Given the description of an element on the screen output the (x, y) to click on. 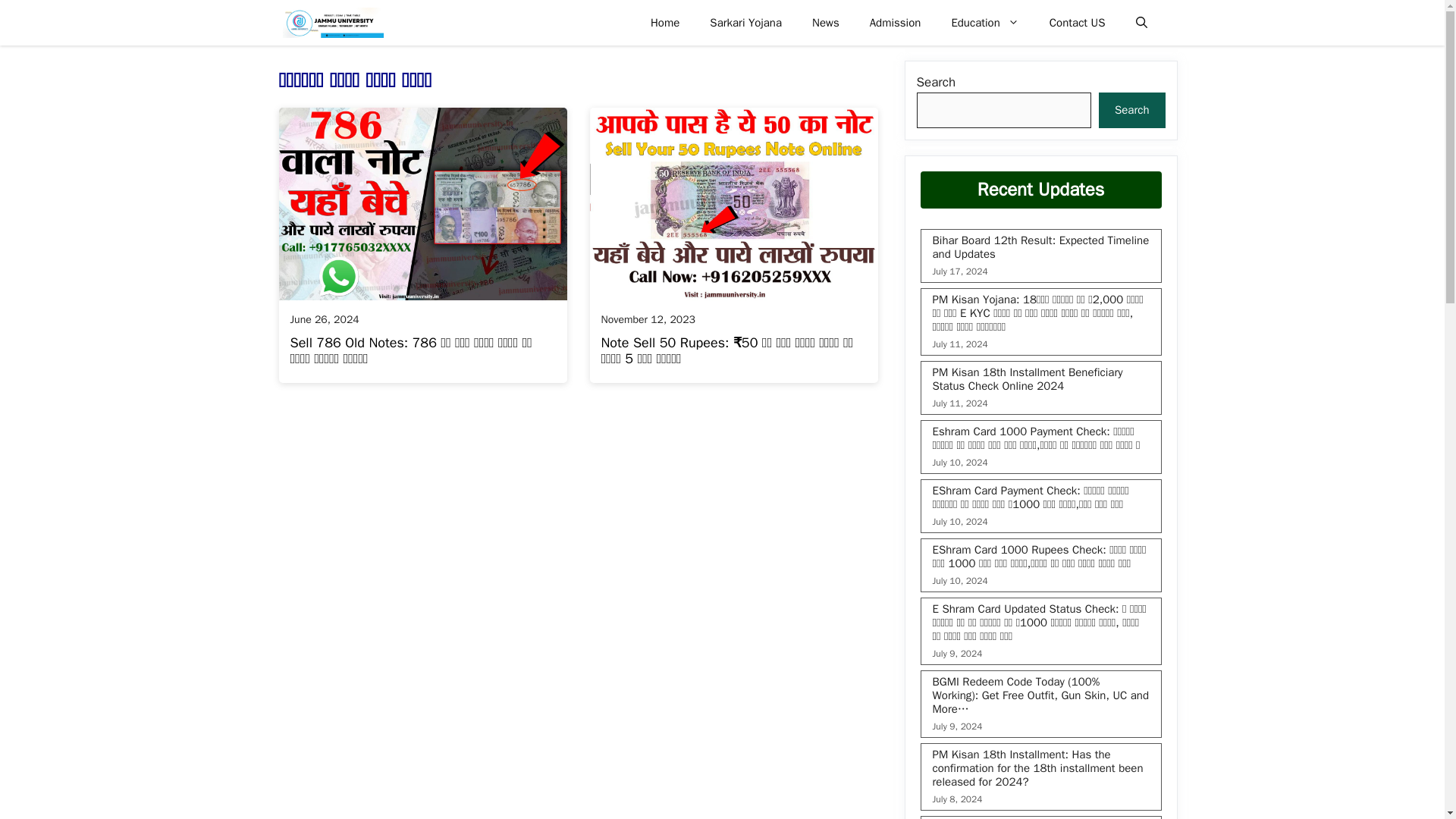
Bihar Board 12th Result: Expected Timeline and Updates (1041, 247)
Home (664, 22)
Education (984, 22)
Jammu University (332, 22)
Sarkari Yojana (745, 22)
Search (1132, 110)
Admission (895, 22)
News (825, 22)
Contact US (1077, 22)
